Given the description of an element on the screen output the (x, y) to click on. 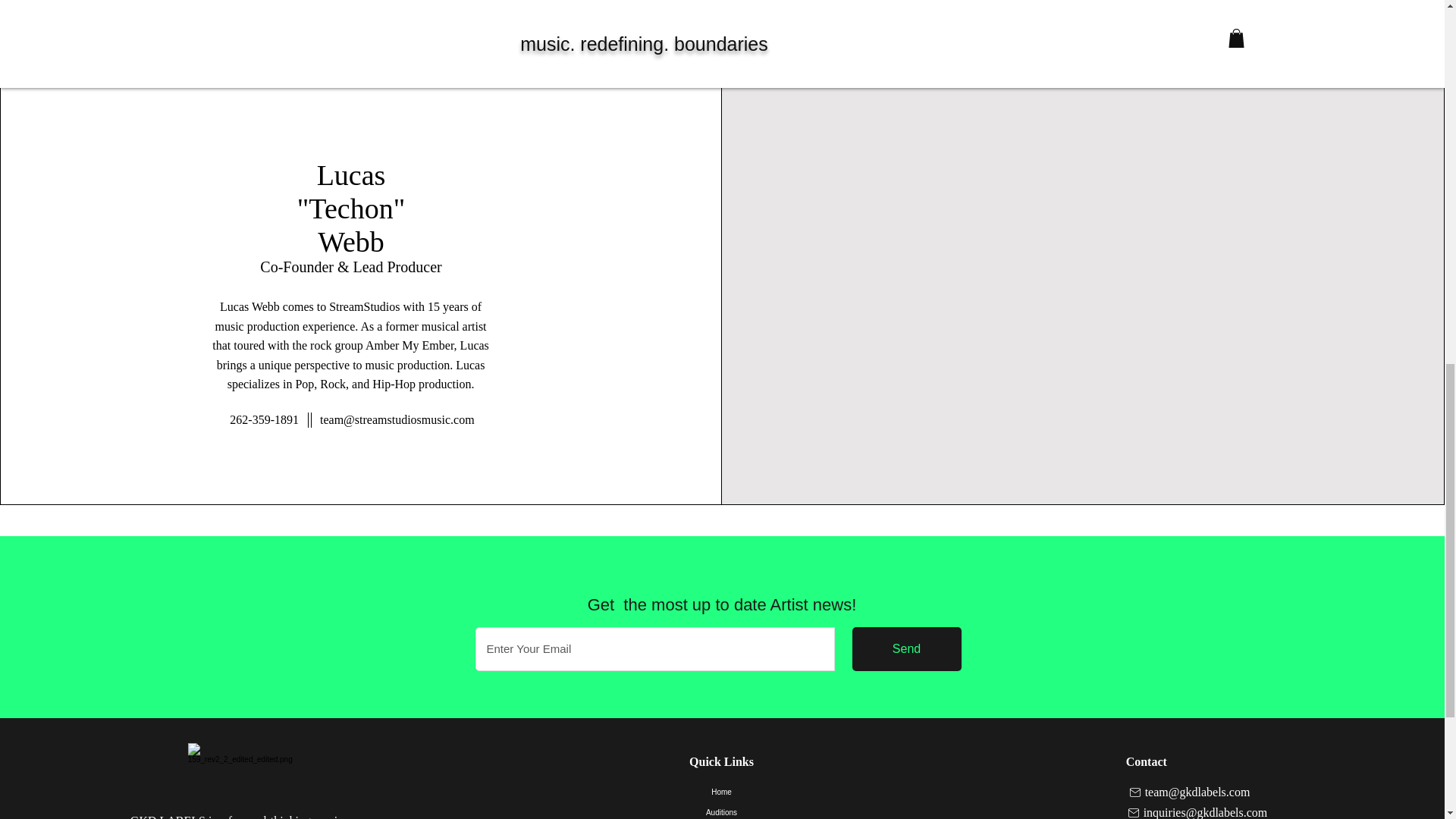
PNG Artboard 2.png (239, 776)
Auditions (720, 810)
Home (720, 792)
Send (905, 648)
